Given the description of an element on the screen output the (x, y) to click on. 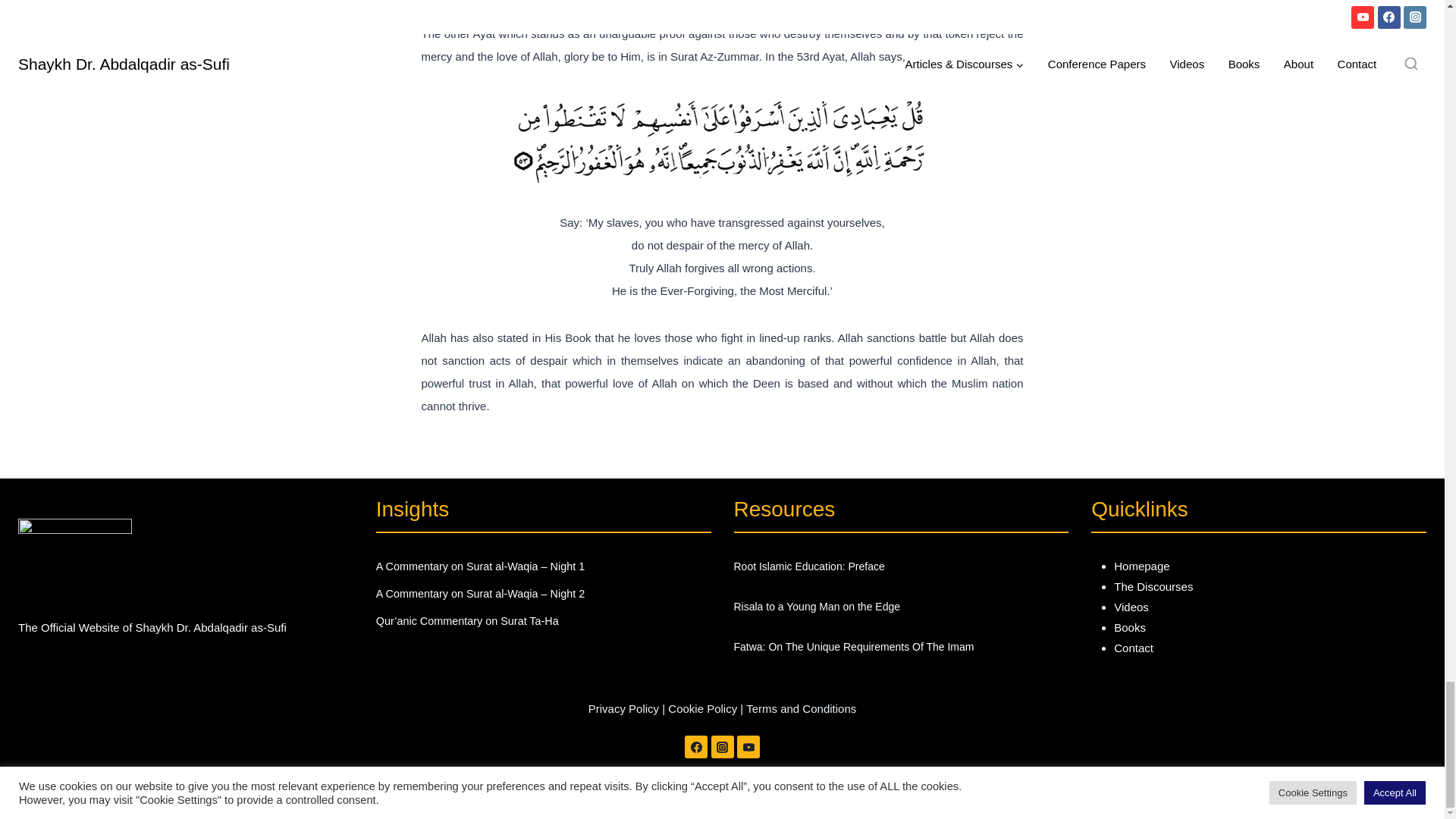
Homepage (1141, 565)
Risala to a Young Man on the Edge (900, 605)
Root Islamic Education: Preface (900, 566)
Fatwa: On The Unique Requirements Of The Imam (900, 646)
